Given the description of an element on the screen output the (x, y) to click on. 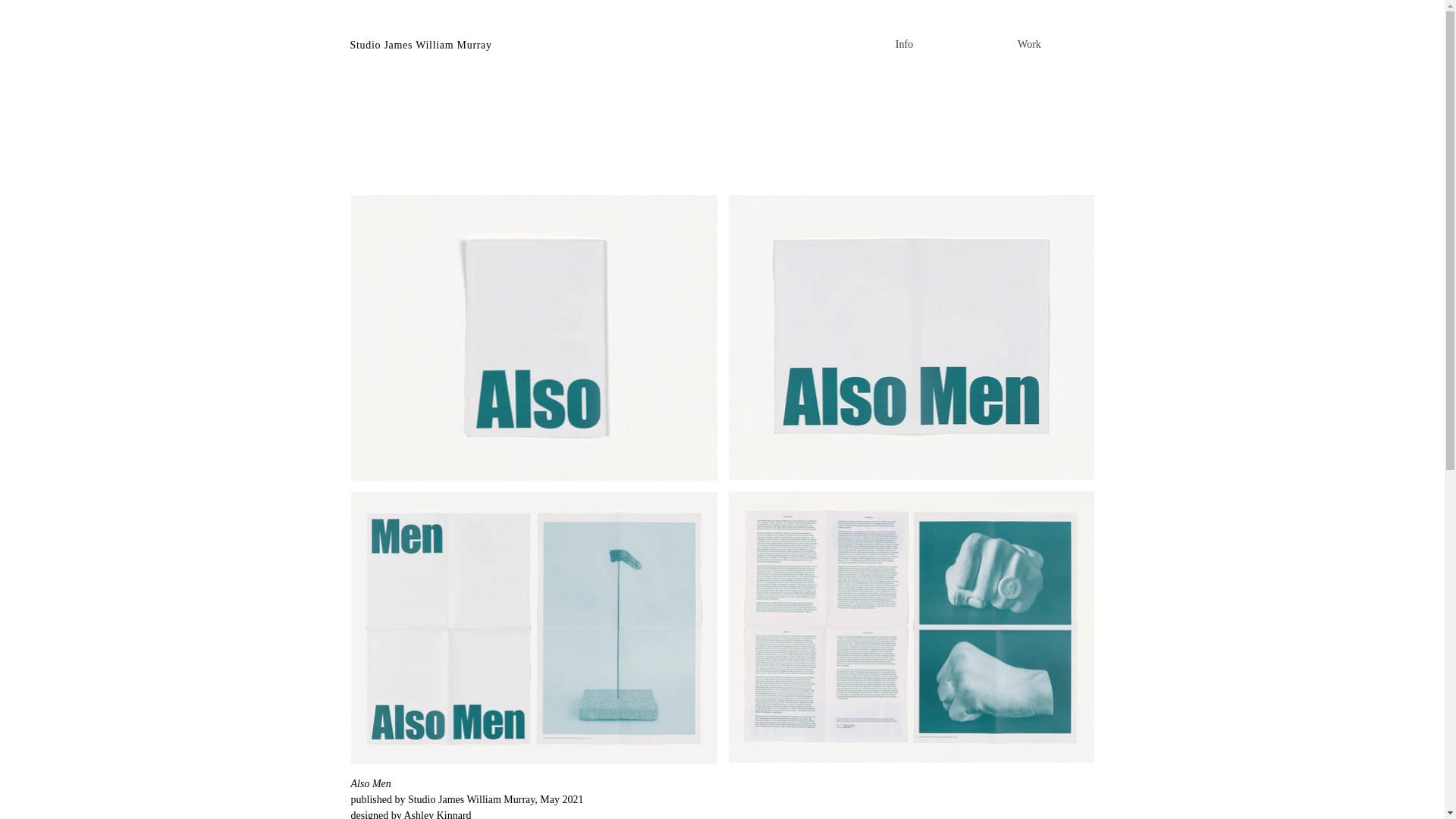
Work (1028, 44)
Info (903, 44)
Studio James William Murray (421, 44)
Ashley Kinnard (436, 814)
